Given the description of an element on the screen output the (x, y) to click on. 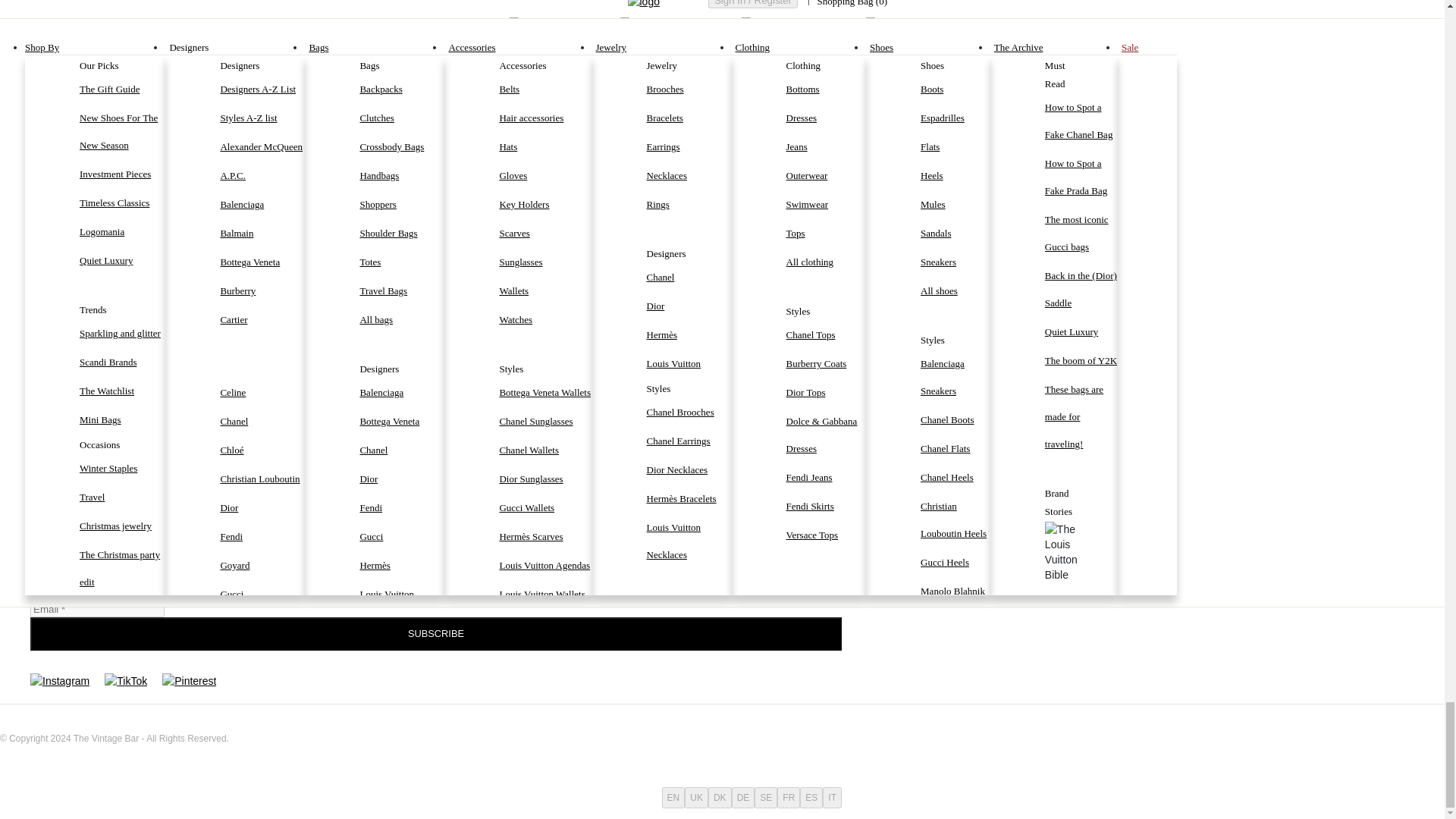
TikTok (125, 680)
Instagram (59, 680)
Pinterest (188, 680)
